Given the description of an element on the screen output the (x, y) to click on. 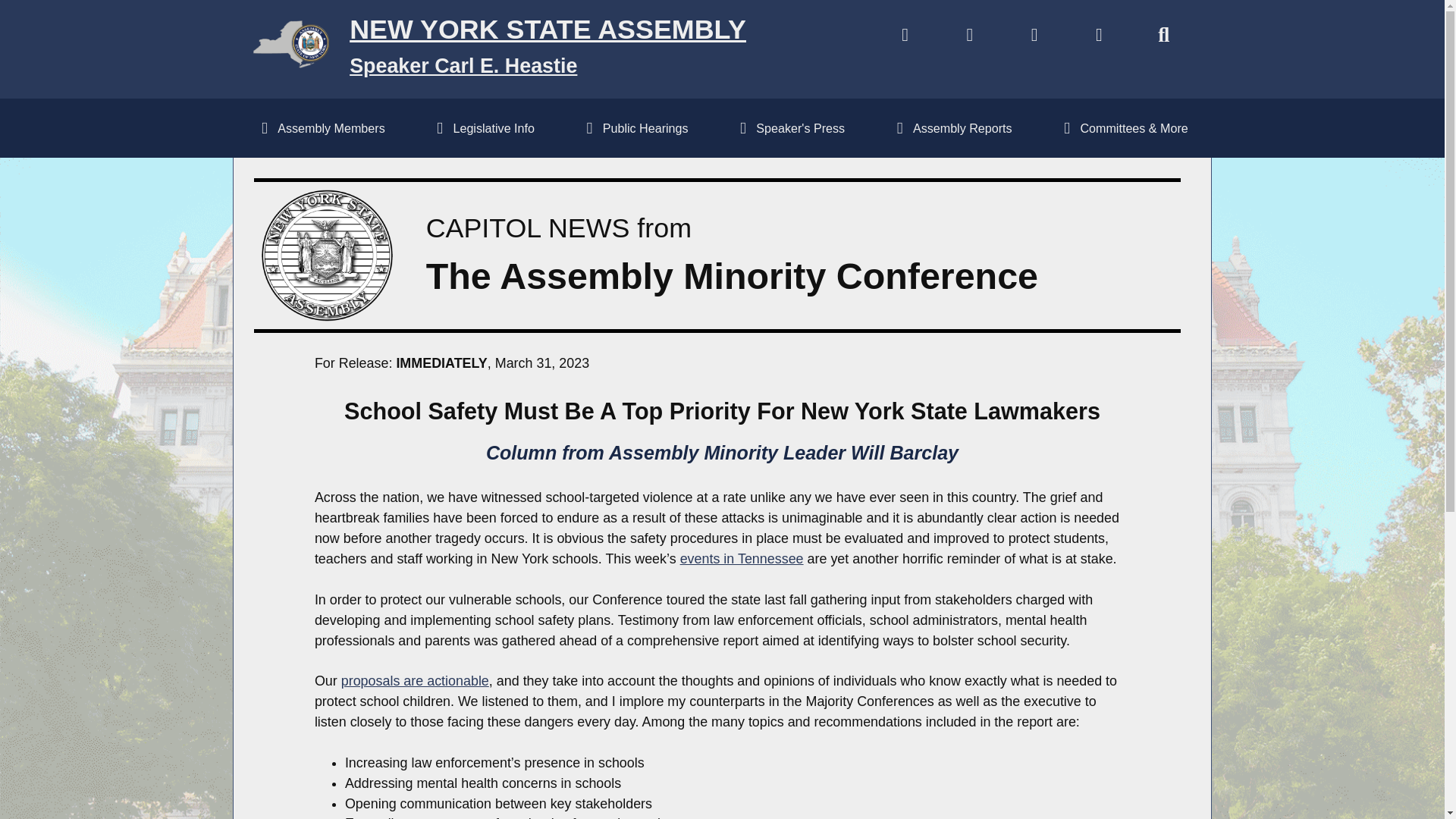
Captiol News from The Assembly Minority Conference (327, 255)
NYS Assembly Majority Instagram (1098, 37)
NYS Assembly Majority Facebook (969, 37)
Public Hearings (634, 128)
Speaker's Press (789, 128)
Speaker's Press (789, 128)
Legislative Info (483, 128)
Assembly Reports (951, 128)
NYS Assembly Majority Twitter (1034, 37)
Assembly Members (319, 128)
proposals are actionable (414, 680)
Public Hearings (634, 128)
Watch Live (904, 37)
Assembly Reports (951, 128)
Legislative Info (483, 128)
